Given the description of an element on the screen output the (x, y) to click on. 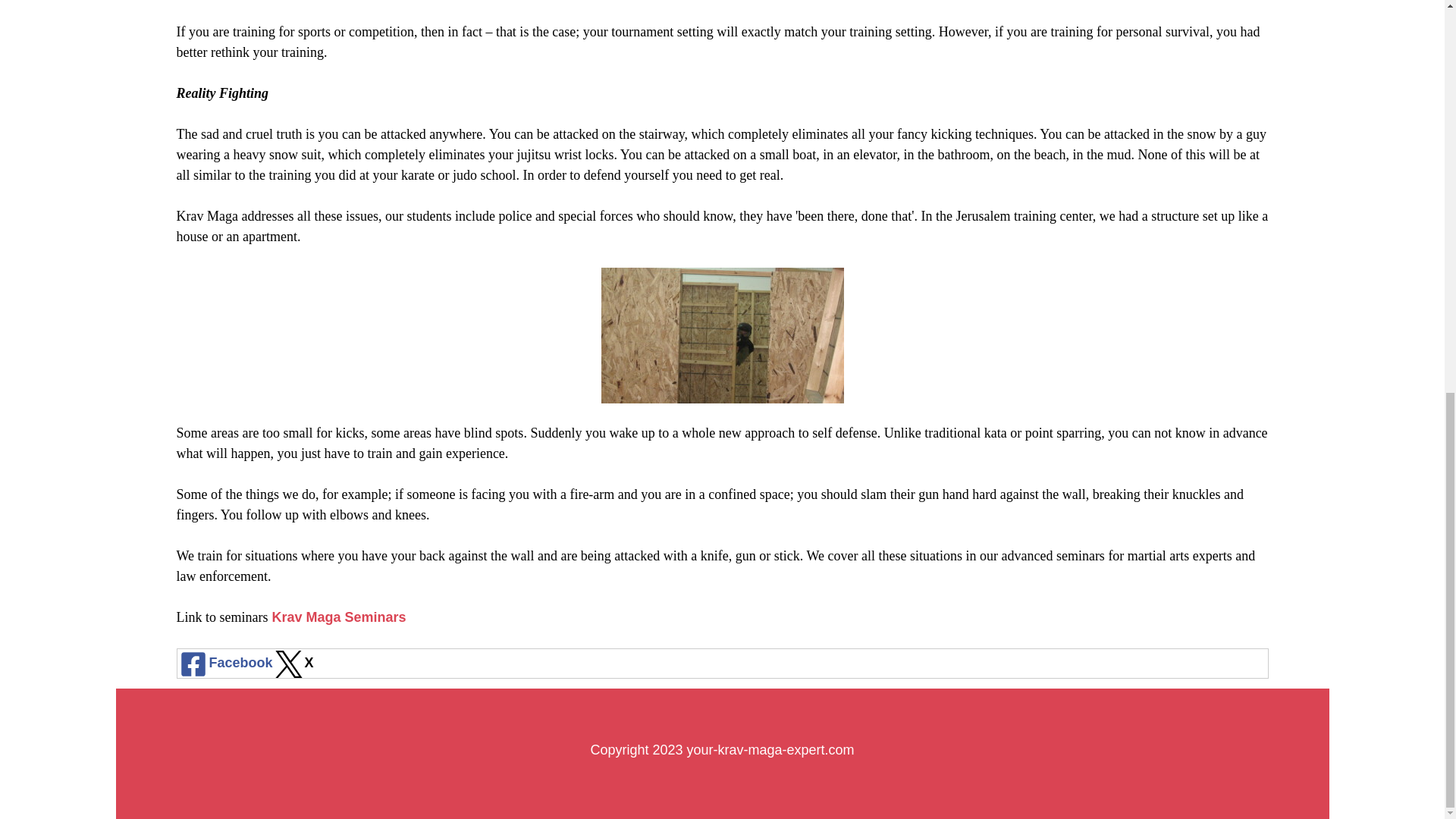
X (293, 663)
Facebook (225, 663)
Krav Maga Seminars (338, 616)
